Given the description of an element on the screen output the (x, y) to click on. 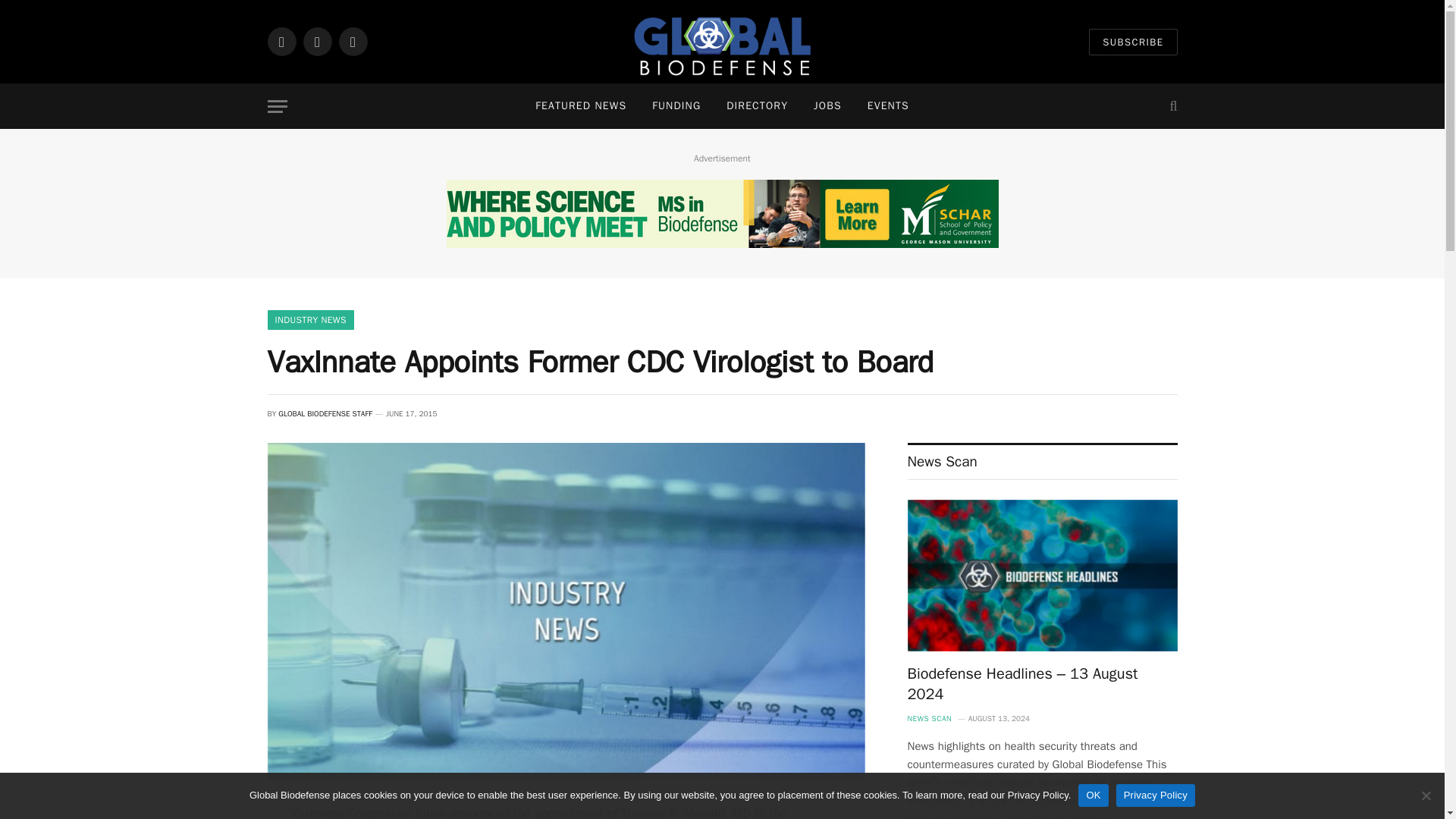
Facebook (280, 41)
SUBSCRIBE (1132, 41)
FEATURED NEWS (580, 105)
Instagram (316, 41)
Biosecurity and Biodefense Jobs (827, 105)
DIRECTORY (756, 105)
EVENTS (887, 105)
JOBS (827, 105)
Global Biodefense (721, 41)
